Given the description of an element on the screen output the (x, y) to click on. 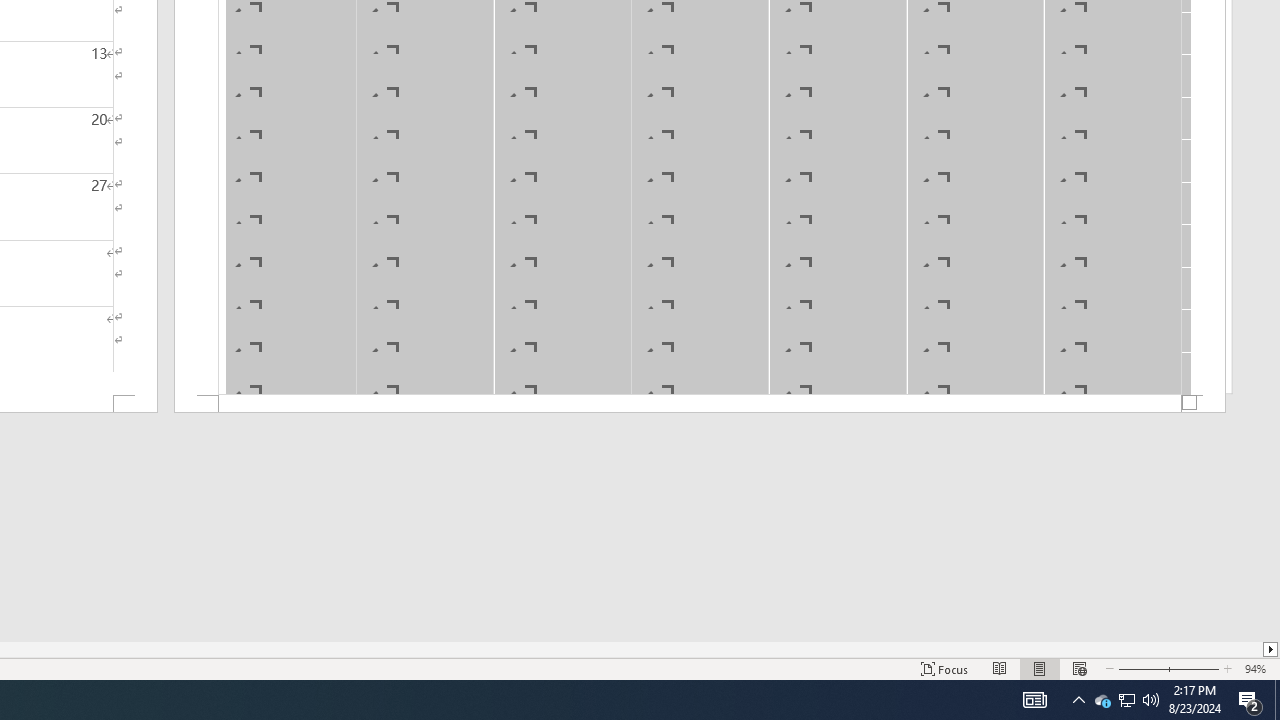
Footer -Section 1- (700, 404)
Column right (1271, 649)
